Given the description of an element on the screen output the (x, y) to click on. 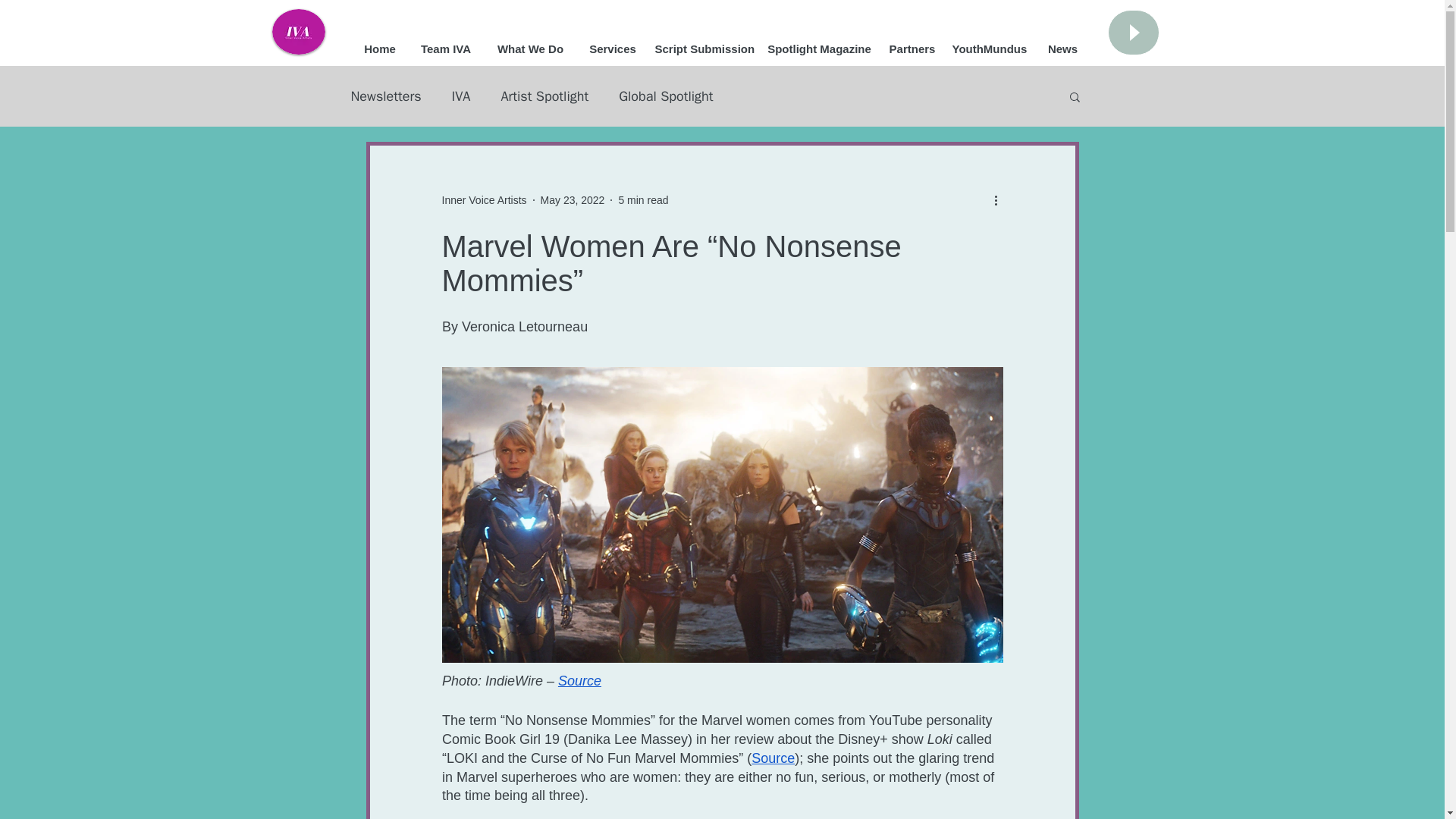
YouthMundus (988, 48)
Newsletters (385, 95)
Inner Voice Artists (483, 200)
Global Spotlight (665, 95)
News (1062, 48)
Home (379, 48)
Source (578, 680)
Partners (911, 48)
Team IVA (446, 48)
May 23, 2022 (572, 200)
